Given the description of an element on the screen output the (x, y) to click on. 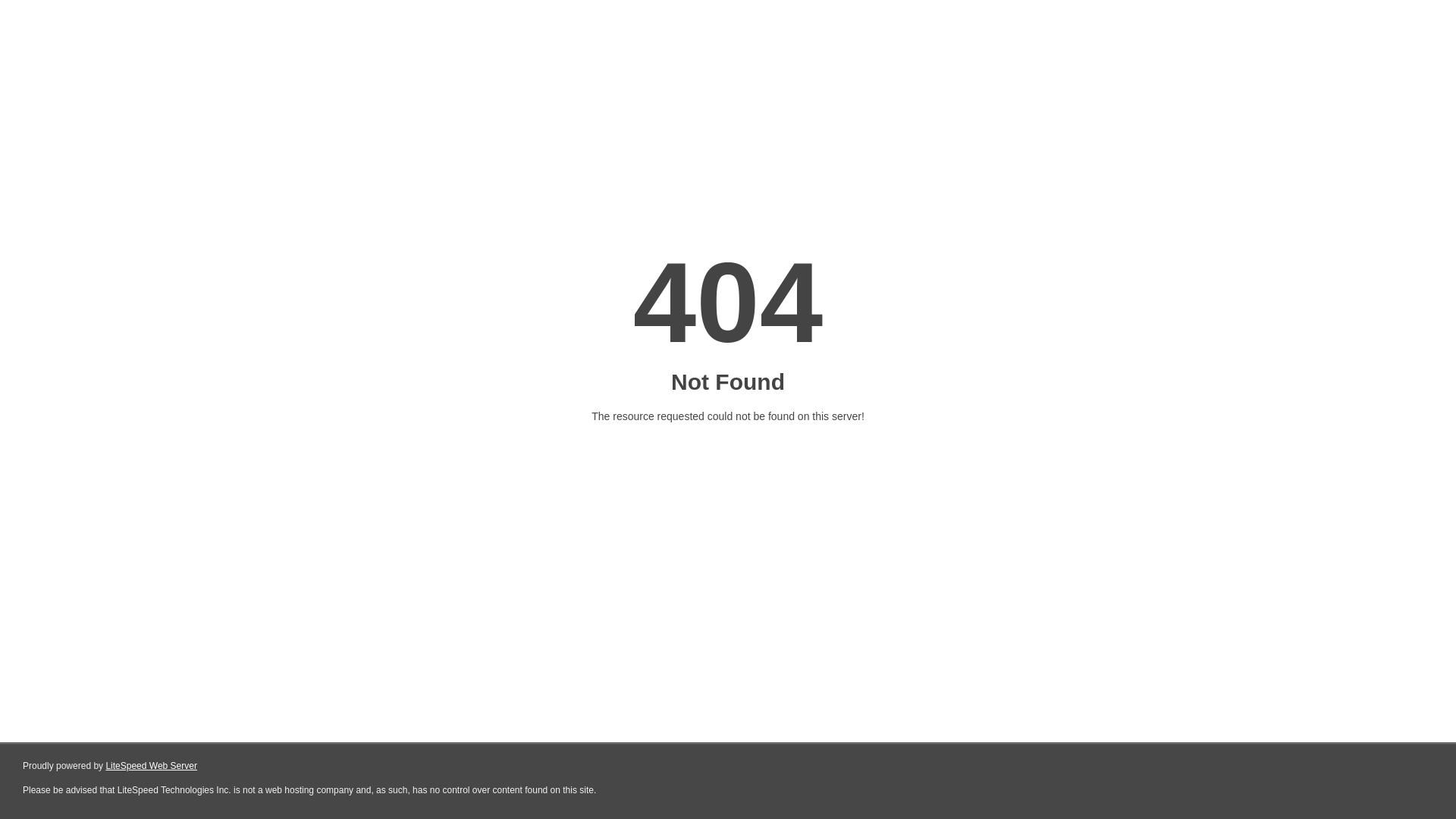
LiteSpeed Web Server Element type: text (151, 765)
